Given the description of an element on the screen output the (x, y) to click on. 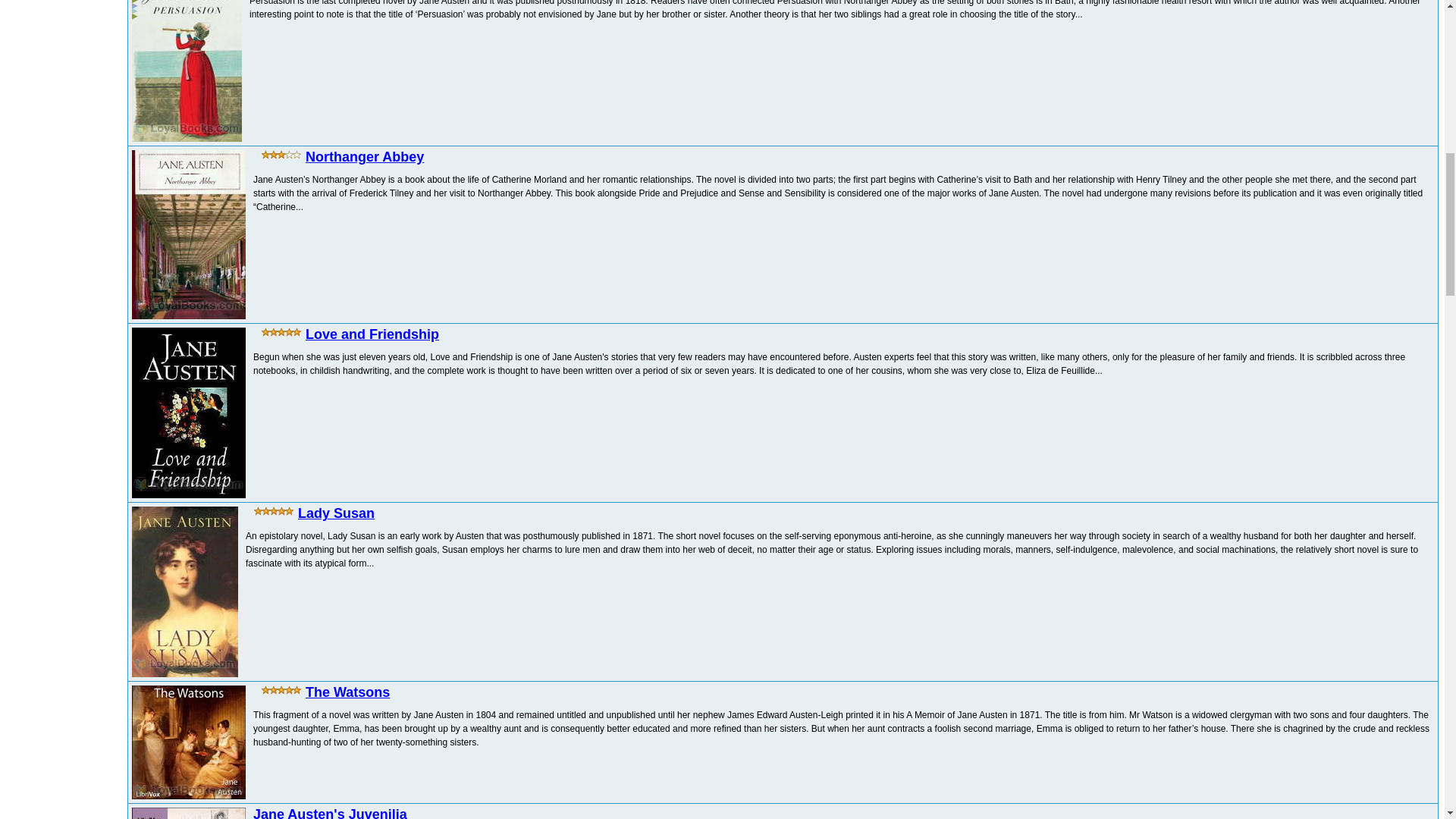
Love and Friendship (372, 334)
Northanger Abbey (364, 156)
The Watsons (347, 692)
Jane Austen's Juvenilia (330, 812)
Lady Susan (336, 513)
